Given the description of an element on the screen output the (x, y) to click on. 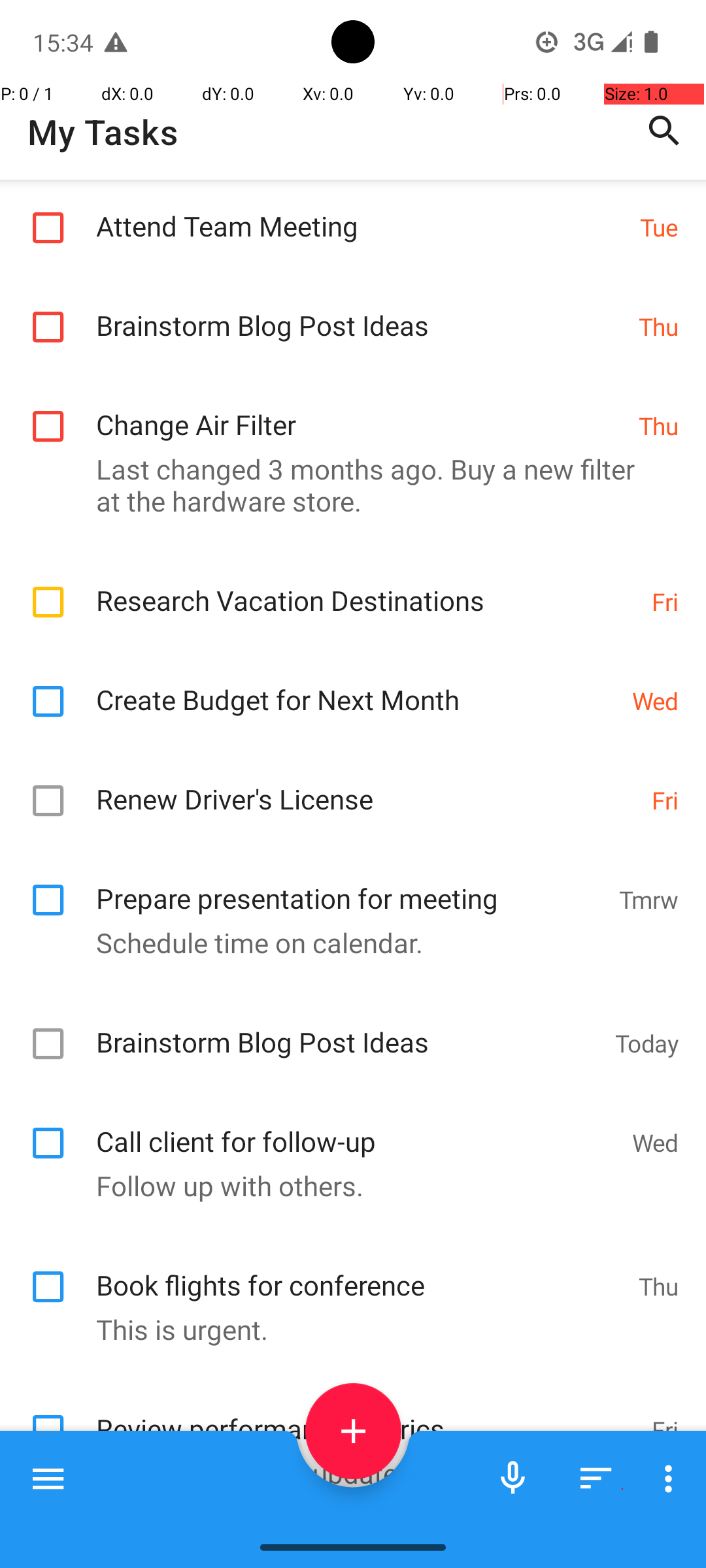
My Tasks Element type: android.widget.TextView (102, 131)
Sort Element type: android.widget.Button (595, 1478)
Attend Team Meeting Element type: android.widget.TextView (361, 211)
Tue Element type: android.widget.TextView (659, 226)
Brainstorm Blog Post Ideas Element type: android.widget.TextView (360, 310)
Thu Element type: android.widget.TextView (658, 325)
Change Air Filter Element type: android.widget.TextView (360, 410)
Last changed 3 months ago. Buy a new filter at the hardware store. Element type: android.widget.TextView (346, 484)
Research Vacation Destinations Element type: android.widget.TextView (367, 586)
Fri Element type: android.widget.TextView (665, 600)
Create Budget for Next Month Element type: android.widget.TextView (357, 685)
Wed Element type: android.widget.TextView (655, 700)
Renew Driver's License Element type: android.widget.TextView (367, 784)
Prepare presentation for meeting Element type: android.widget.TextView (350, 883)
Schedule time on calendar. Element type: android.widget.TextView (346, 942)
Tmrw Element type: android.widget.TextView (648, 898)
Call client for follow-up Element type: android.widget.TextView (357, 1126)
Follow up with others. Element type: android.widget.TextView (346, 1185)
Book flights for conference Element type: android.widget.TextView (360, 1270)
This is urgent. Element type: android.widget.TextView (346, 1328)
Review performance metrics Element type: android.widget.TextView (367, 1414)
Monitor email for updates on this. Element type: android.widget.TextView (346, 1472)
Research market trends Element type: android.widget.TextView (363, 1526)
